Given the description of an element on the screen output the (x, y) to click on. 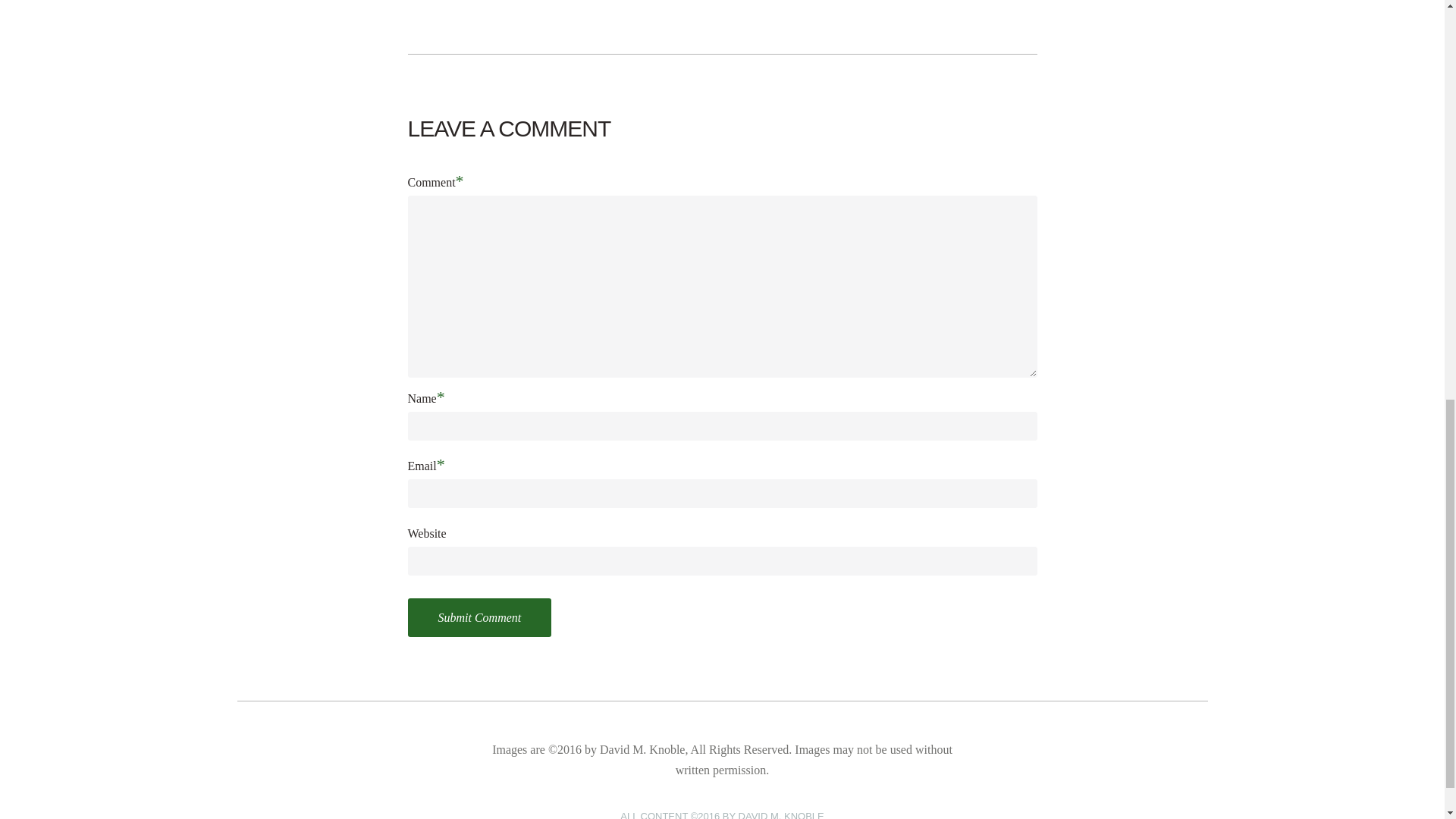
Submit Comment (479, 617)
Submit Comment (479, 617)
